Given the description of an element on the screen output the (x, y) to click on. 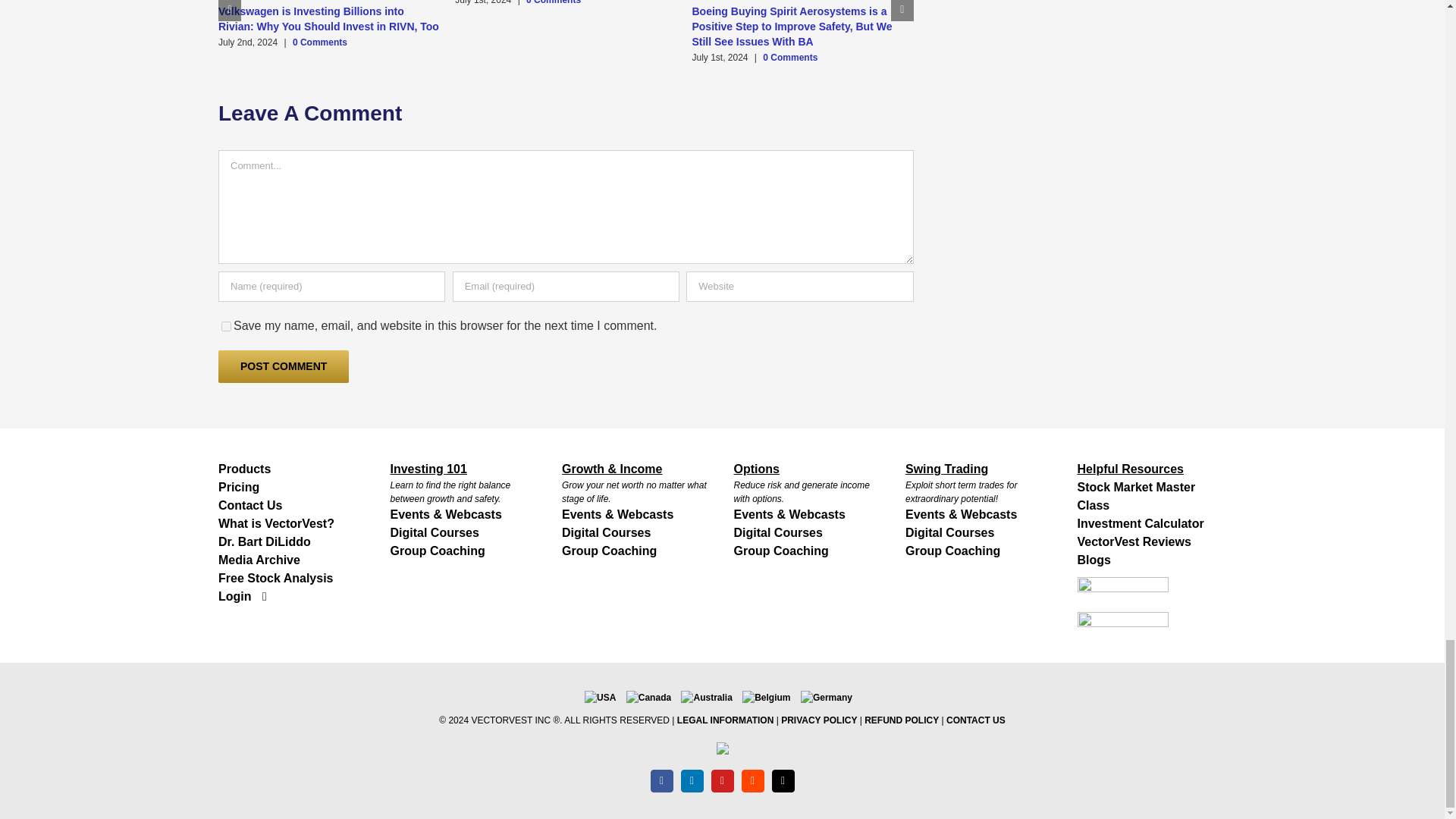
Post Comment (283, 366)
Facebook (661, 780)
LinkedIn (692, 780)
yes (226, 326)
